Given the description of an element on the screen output the (x, y) to click on. 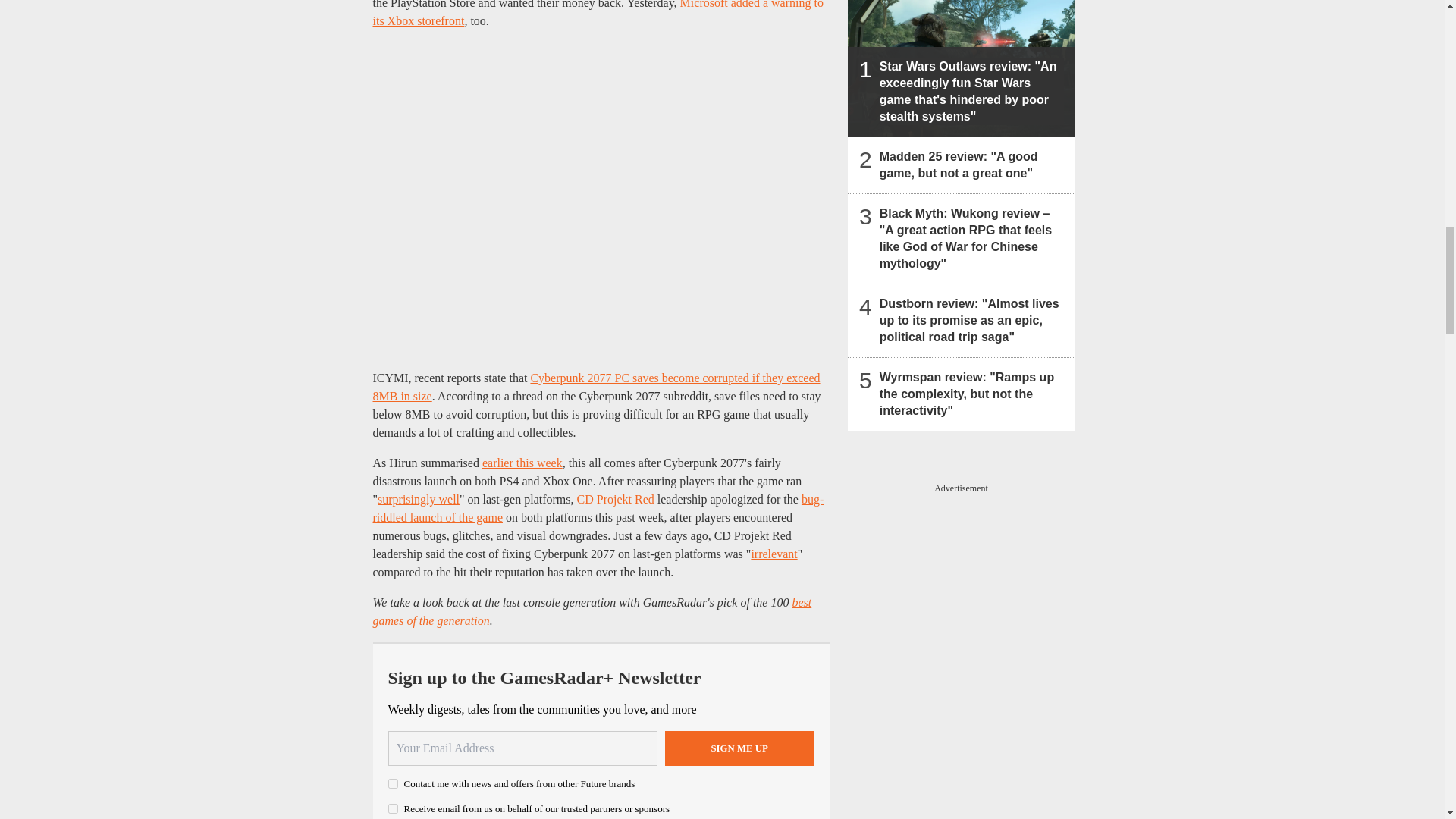
on (392, 808)
on (392, 783)
Sign me up (739, 748)
